Given the description of an element on the screen output the (x, y) to click on. 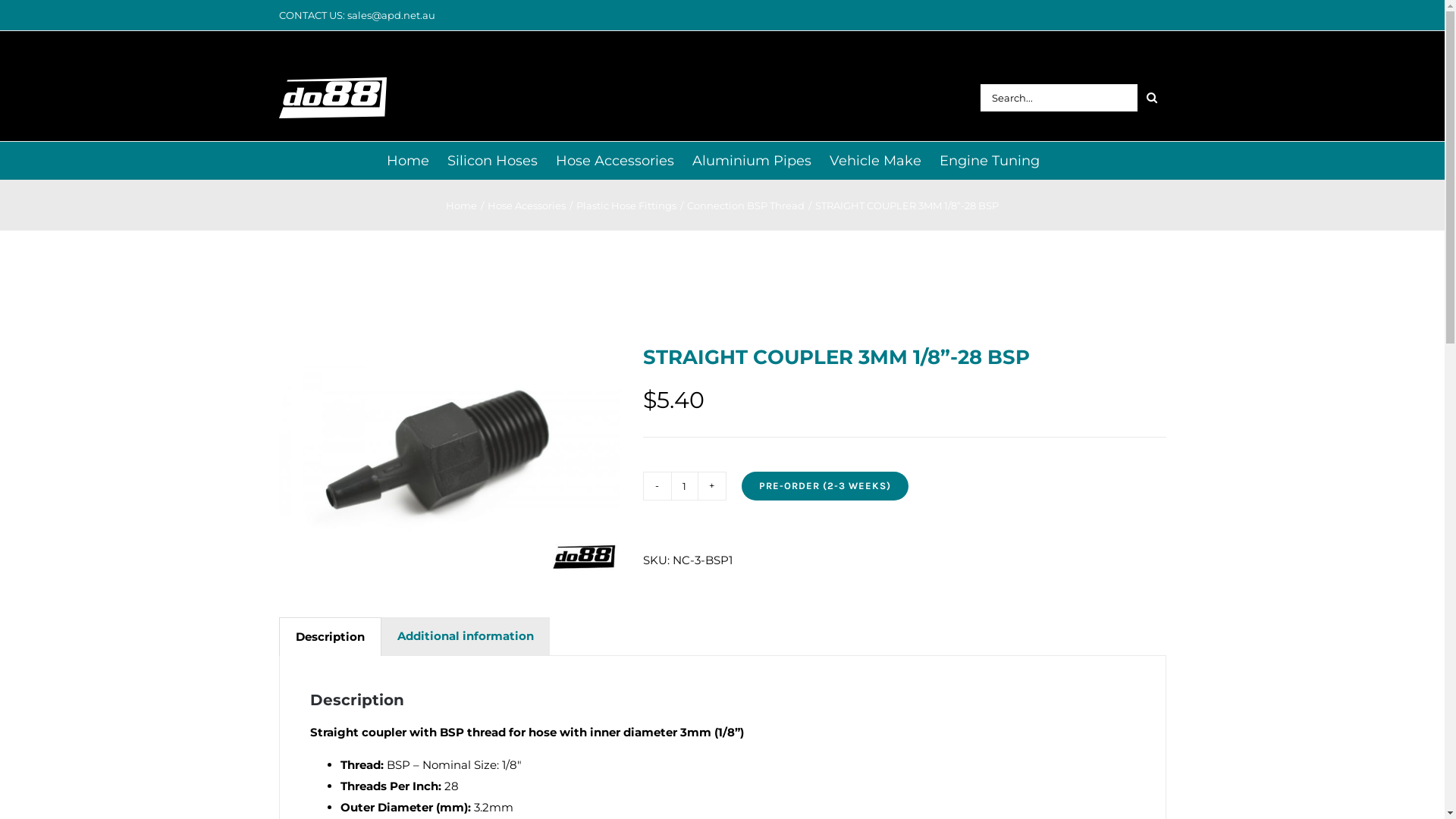
do88 STRAIGHT COUPLER 3MM 1/8''-28 BSP Element type: hover (449, 457)
Aluminium Pipes Element type: text (751, 160)
Hose Acessories Element type: text (526, 205)
Silicon Hoses Element type: text (492, 160)
CONTACT US: sales@apd.net.au Element type: text (357, 15)
Additional information Element type: text (464, 636)
Home Element type: text (460, 205)
Hose Accessories Element type: text (614, 160)
Description Element type: text (329, 636)
Home Element type: text (407, 160)
Engine Tuning Element type: text (989, 160)
Connection BSP Thread Element type: text (745, 205)
Plastic Hose Fittings Element type: text (626, 205)
Vehicle Make Element type: text (875, 160)
PRE-ORDER (2-3 WEEKS) Element type: text (824, 485)
